Given the description of an element on the screen output the (x, y) to click on. 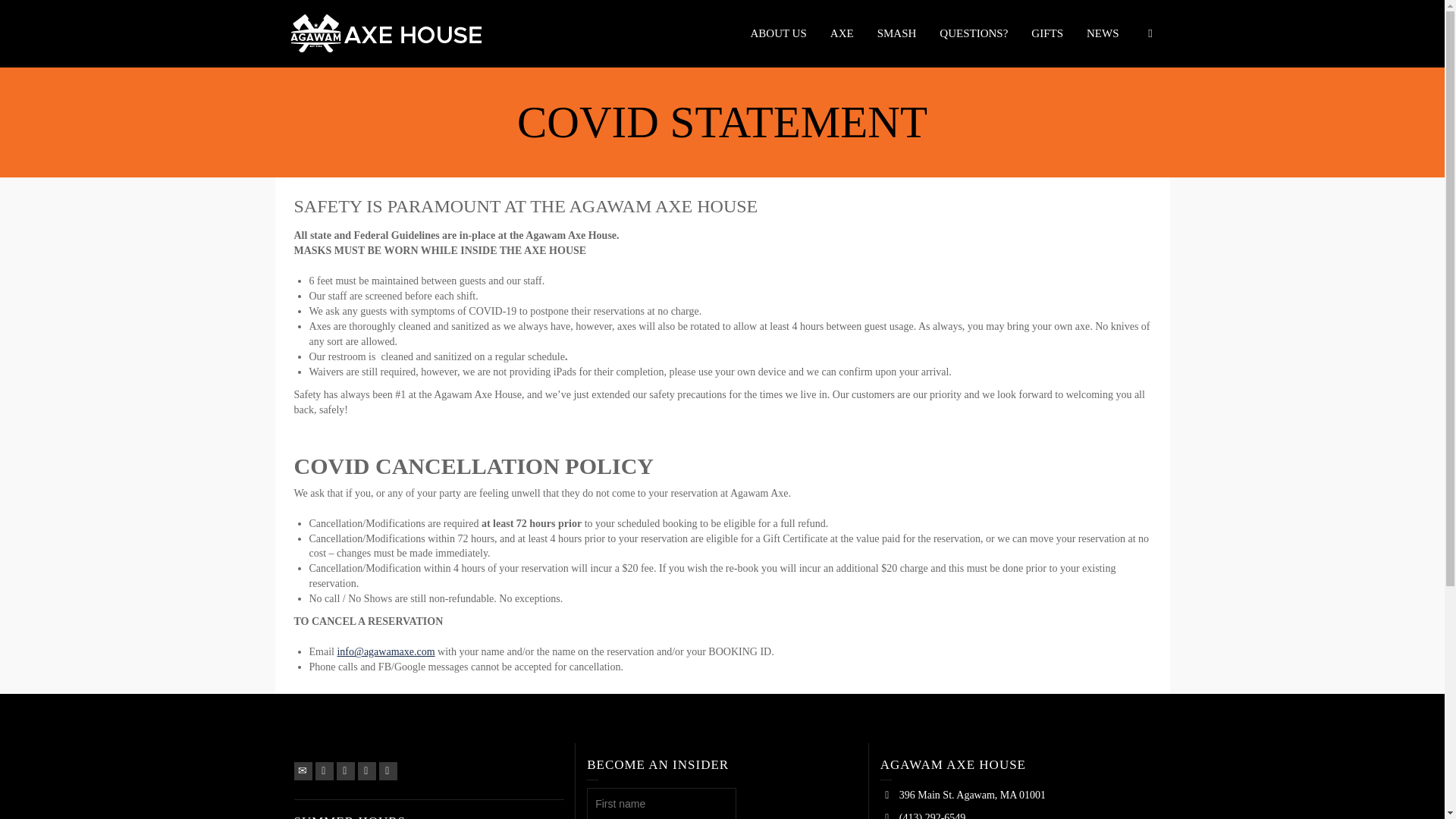
SMASH (897, 33)
ABOUT US (778, 33)
Agawam Axe House (386, 31)
Facebook (345, 771)
Instagram (387, 771)
Email (303, 771)
Twitter (324, 771)
QUESTIONS? (974, 33)
